Given the description of an element on the screen output the (x, y) to click on. 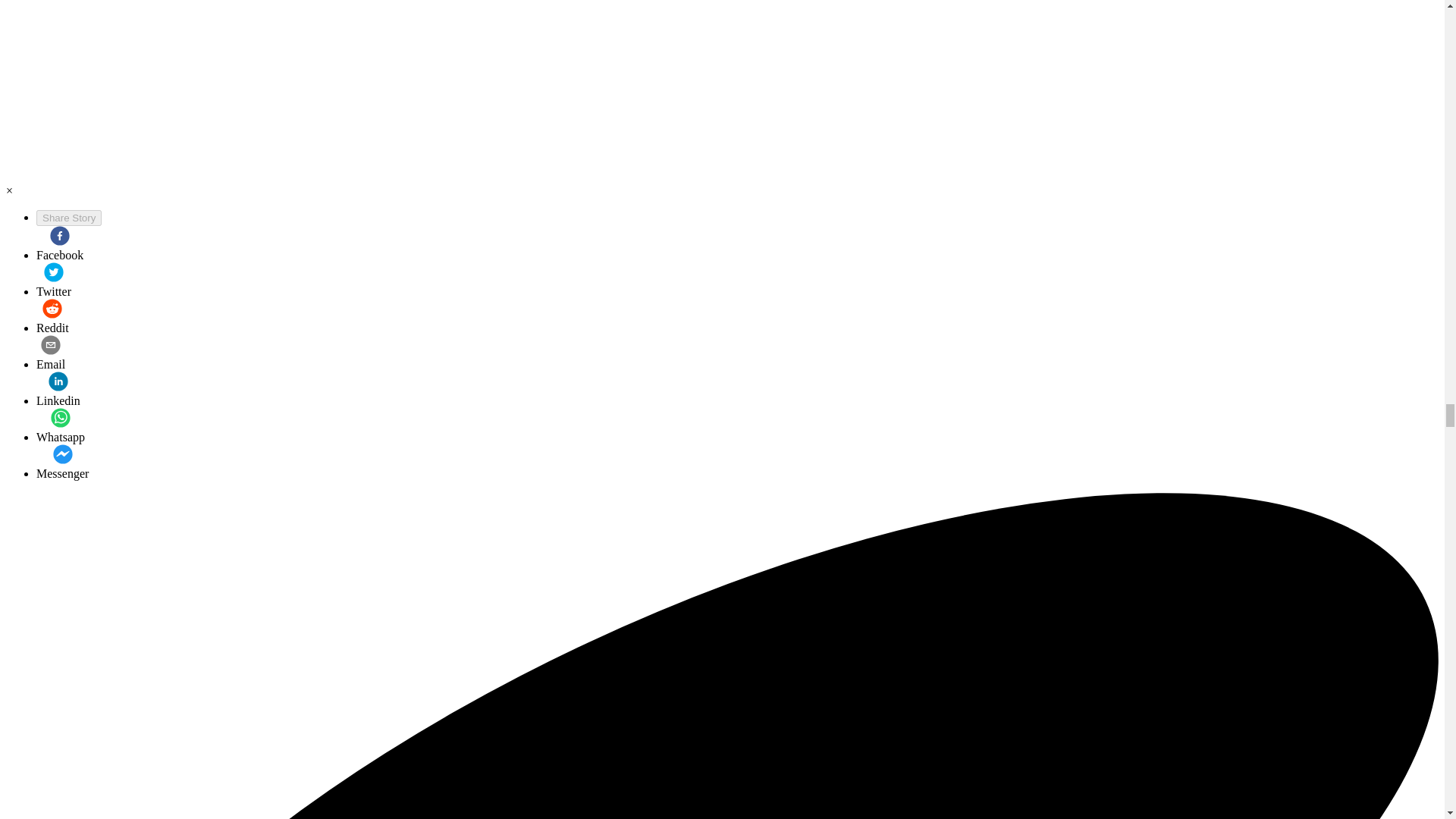
Their house, my garden: Support systems (62, 462)
